Given the description of an element on the screen output the (x, y) to click on. 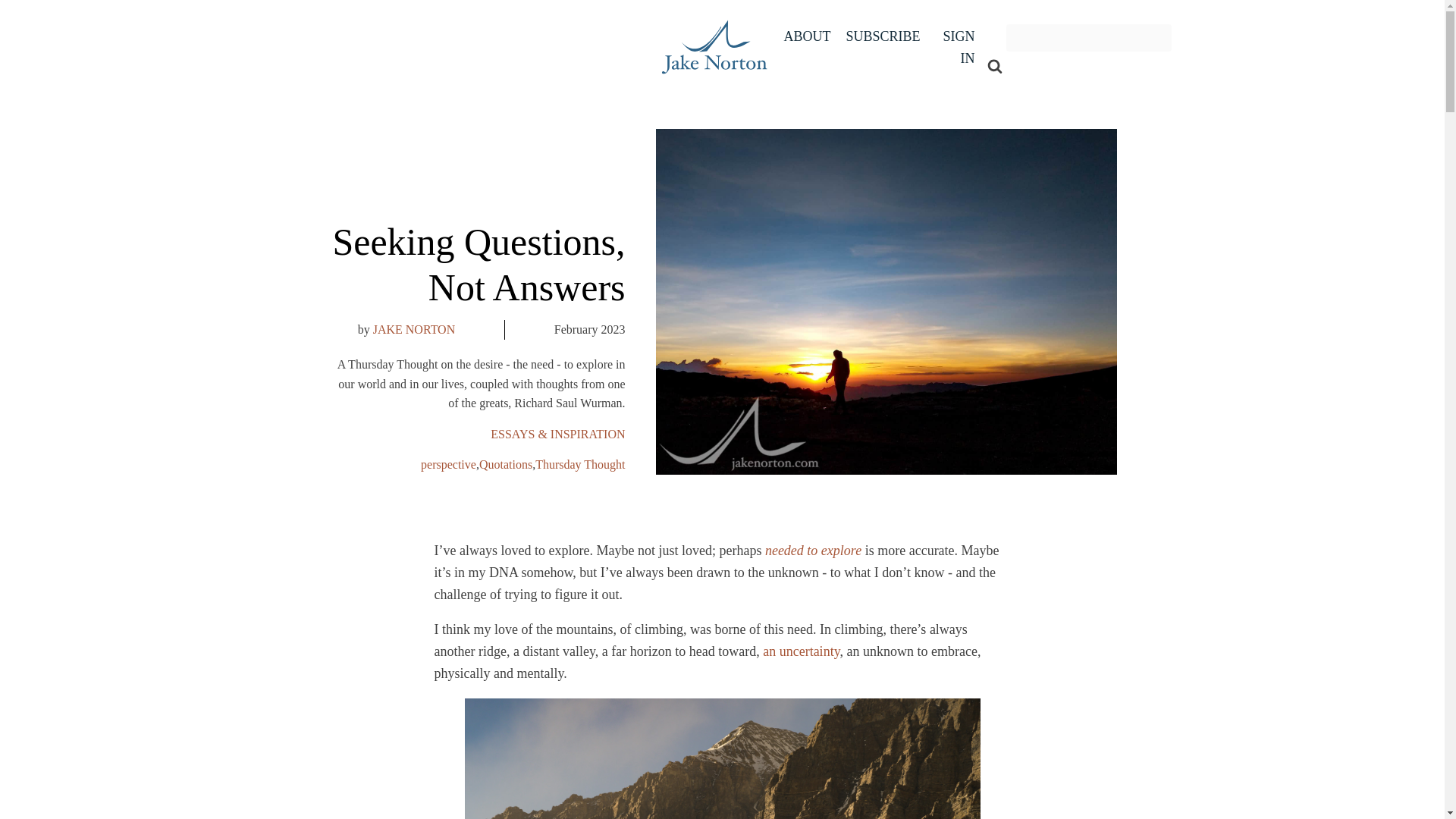
JAKE NORTON (413, 328)
SUBSCRIBE (883, 36)
ABOUT (807, 36)
Search (1037, 64)
Quotations (505, 463)
an uncertainty (801, 651)
Thursday Thought (579, 463)
needed to explore (813, 549)
perspective (448, 463)
Search (1037, 64)
SIGN IN (955, 47)
